Given the description of an element on the screen output the (x, y) to click on. 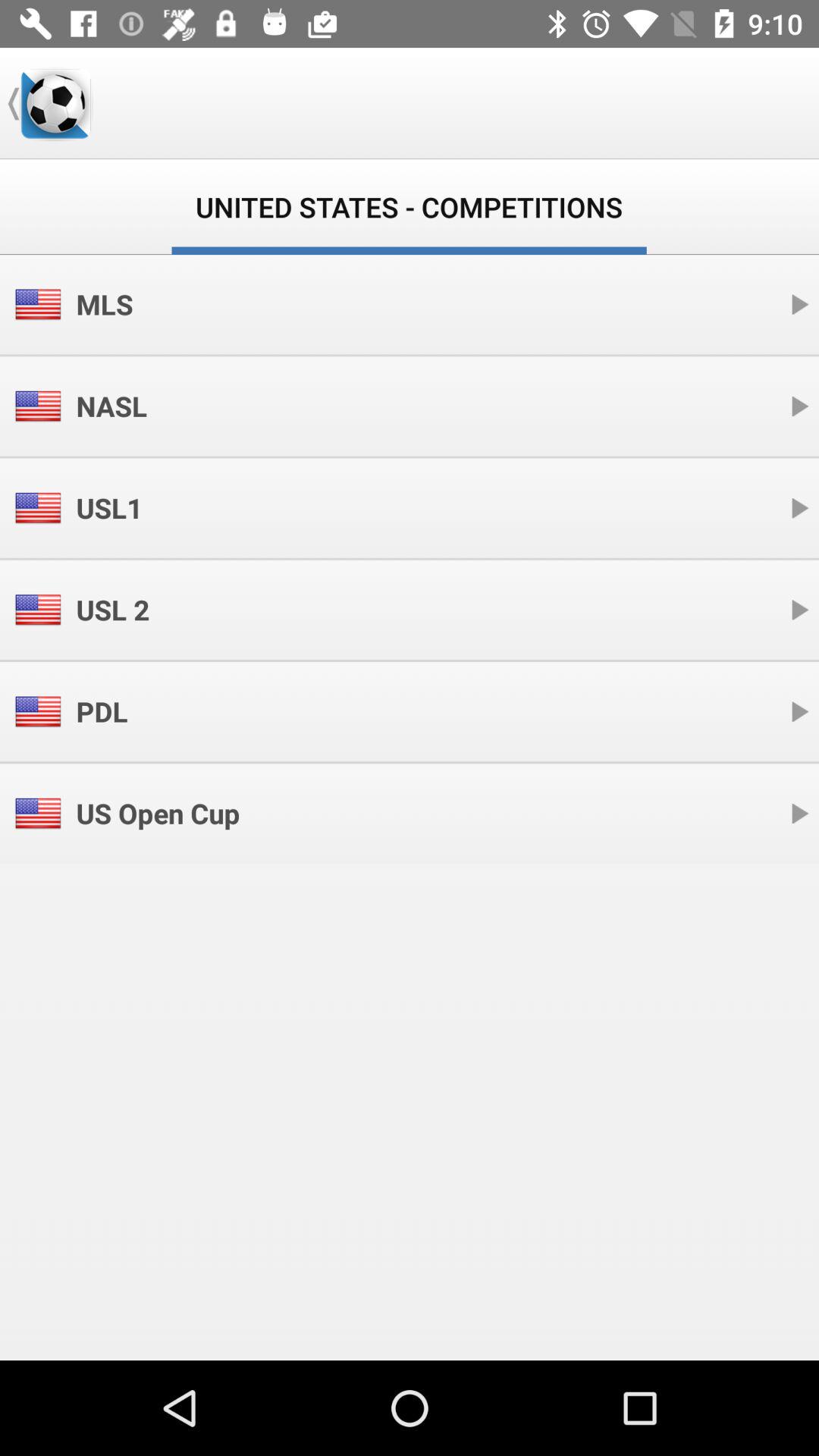
tap the icon below the pdl item (158, 813)
